Given the description of an element on the screen output the (x, y) to click on. 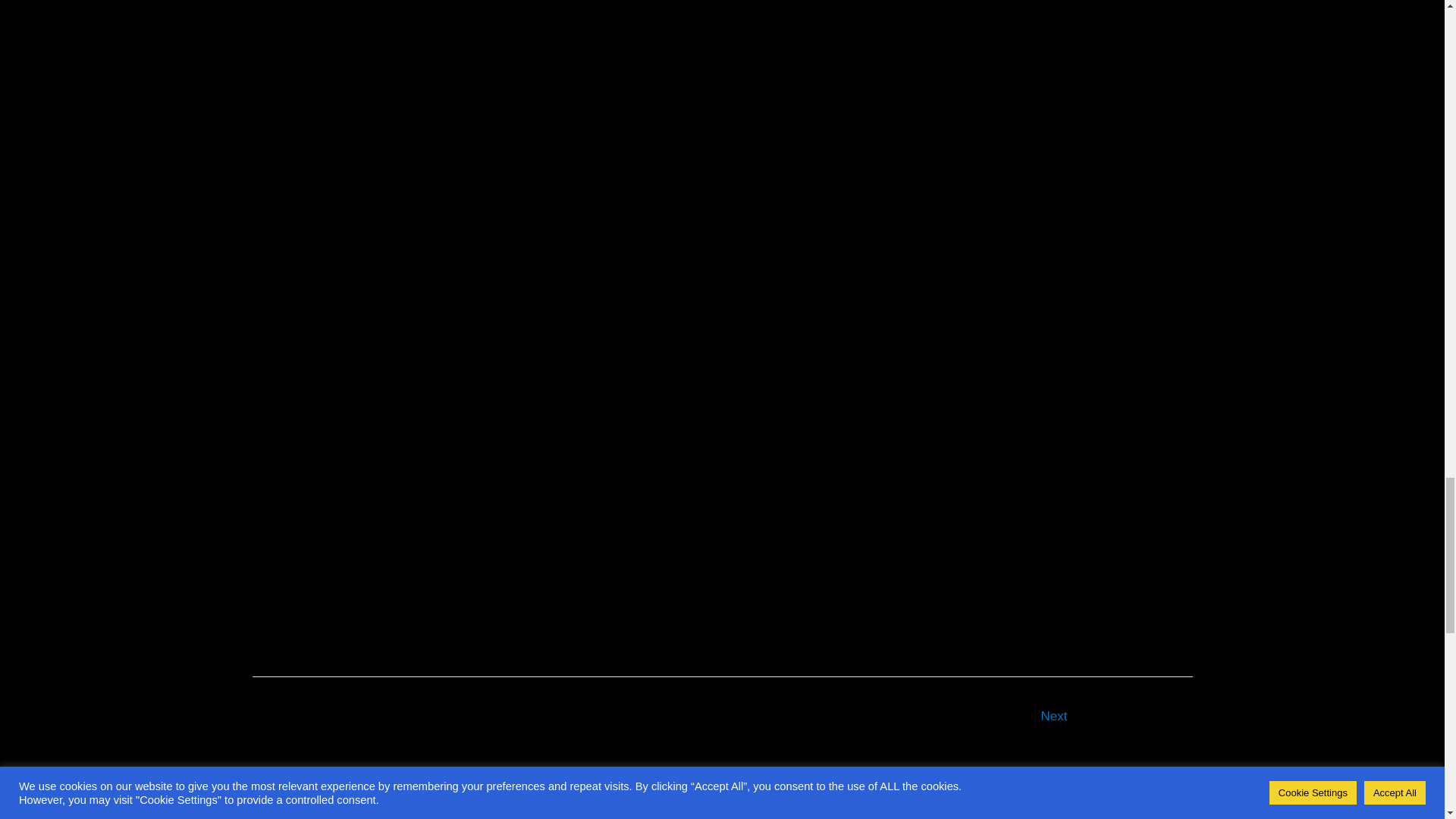
309 BROOKS STR, MENLO PARK, PRETORIA, 0081 (539, 524)
CORPORATE WORK: 082 448 9662 (723, 524)
